Given the description of an element on the screen output the (x, y) to click on. 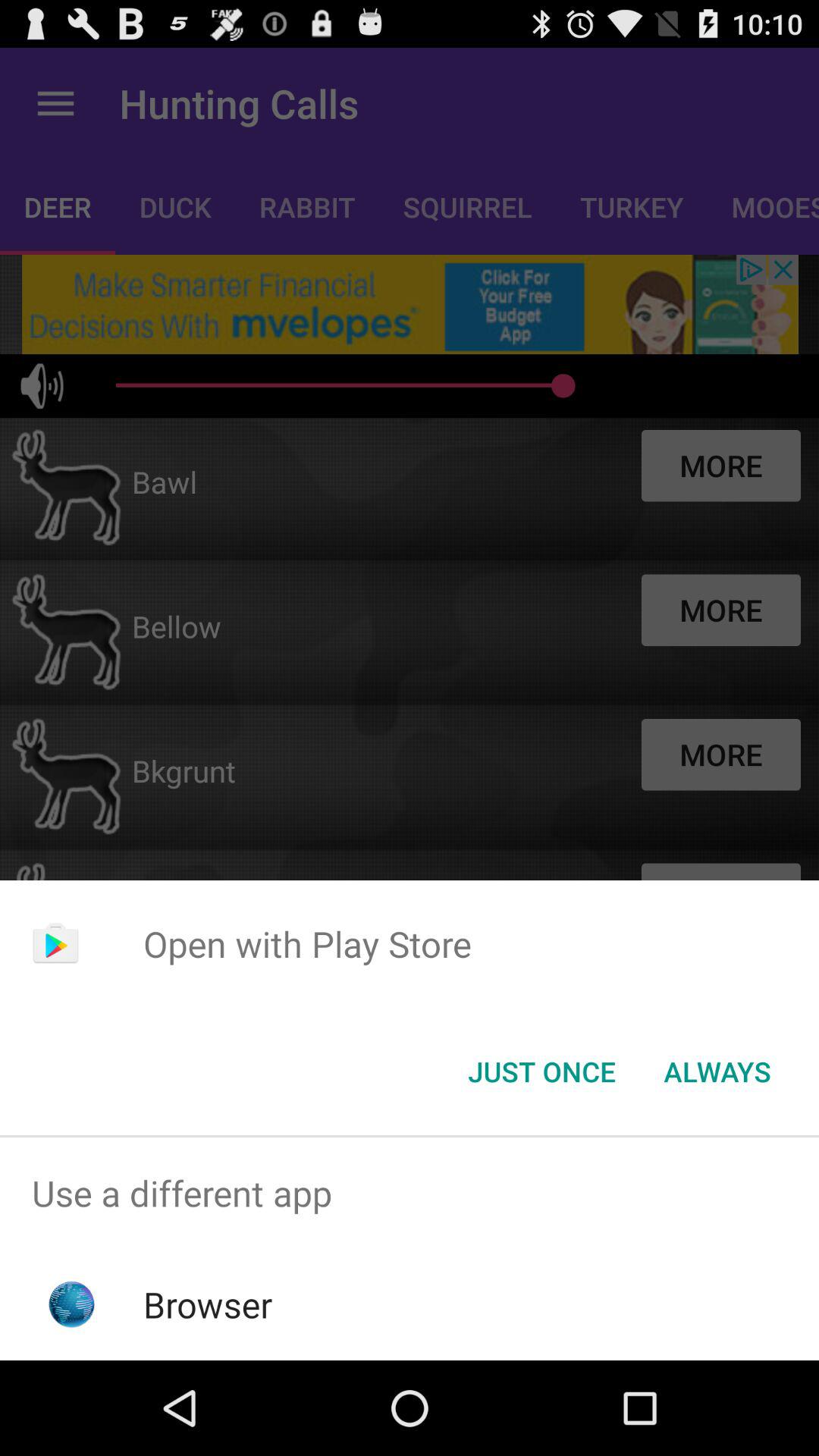
flip until browser icon (207, 1304)
